Given the description of an element on the screen output the (x, y) to click on. 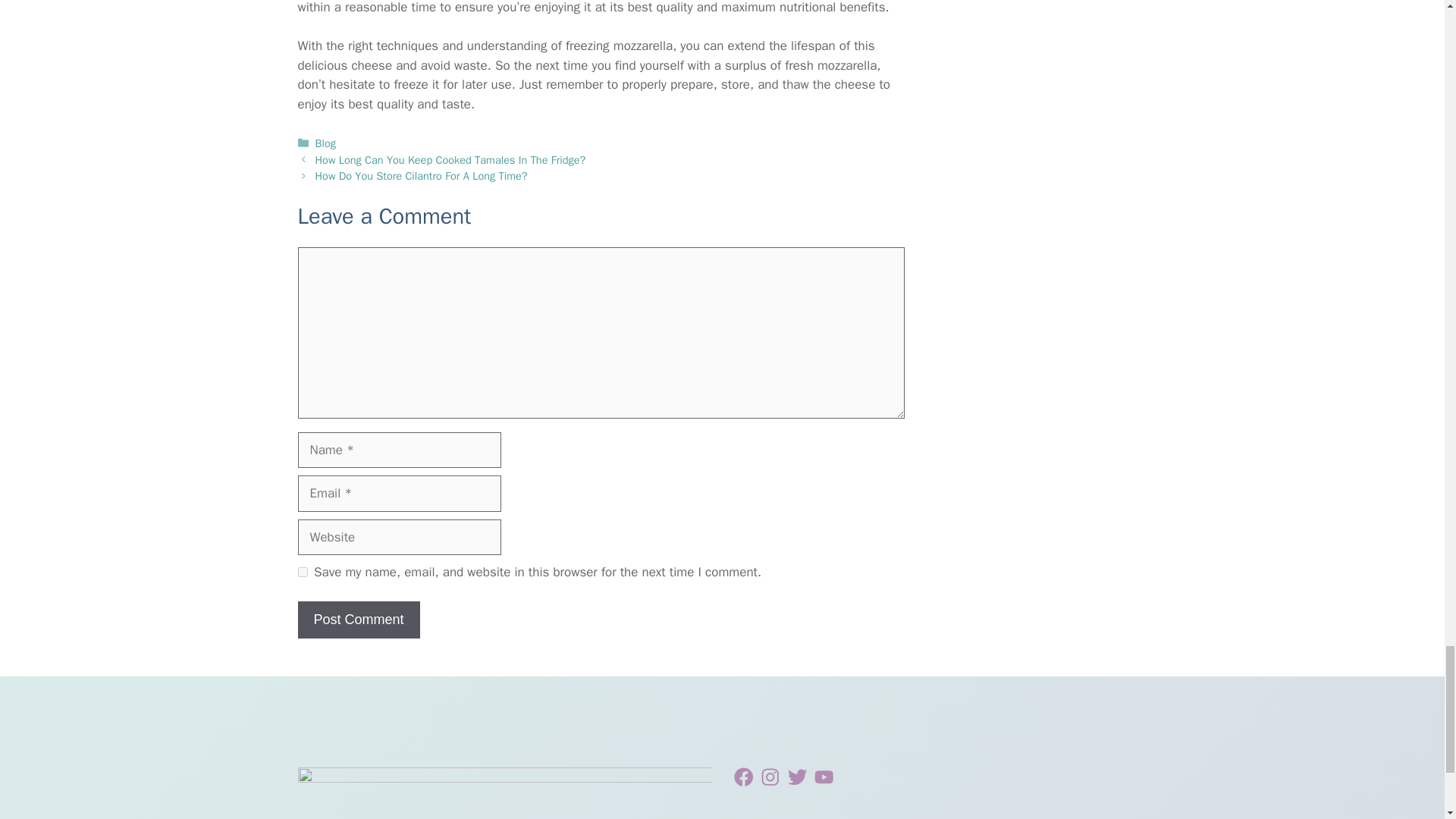
How Long Can You Keep Cooked Tamales In The Fridge? (450, 160)
Post Comment (358, 619)
yes (302, 572)
How Do You Store Cilantro For A Long Time? (421, 175)
Post Comment (358, 619)
Blog (325, 142)
